Given the description of an element on the screen output the (x, y) to click on. 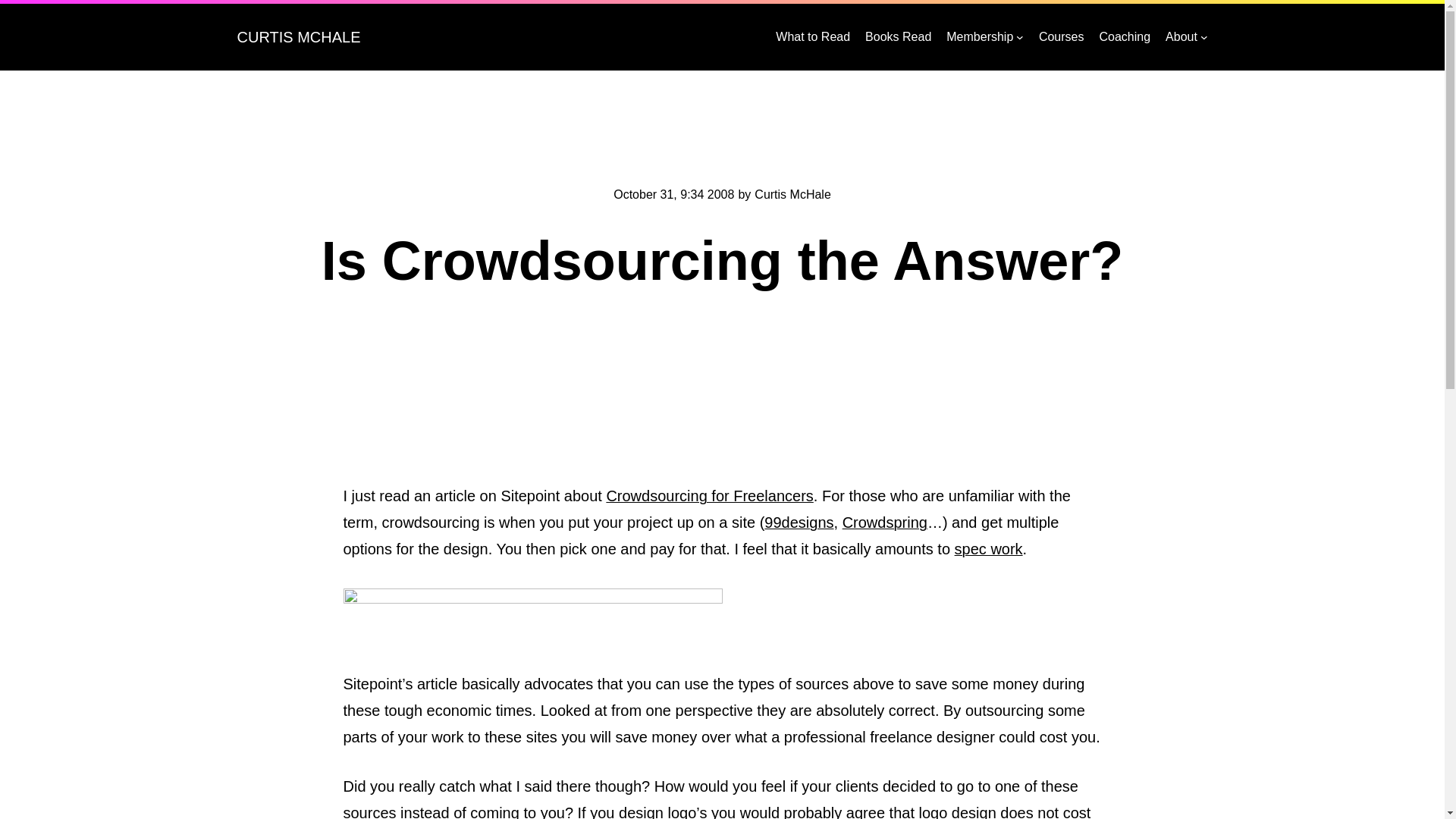
Books Read (897, 36)
spec work (989, 548)
What to Read (813, 36)
Membership (979, 36)
CURTIS MCHALE (297, 36)
About (1181, 36)
Crowdspring (885, 522)
99designs (798, 522)
Coaching (1124, 36)
Courses (1061, 36)
